Given the description of an element on the screen output the (x, y) to click on. 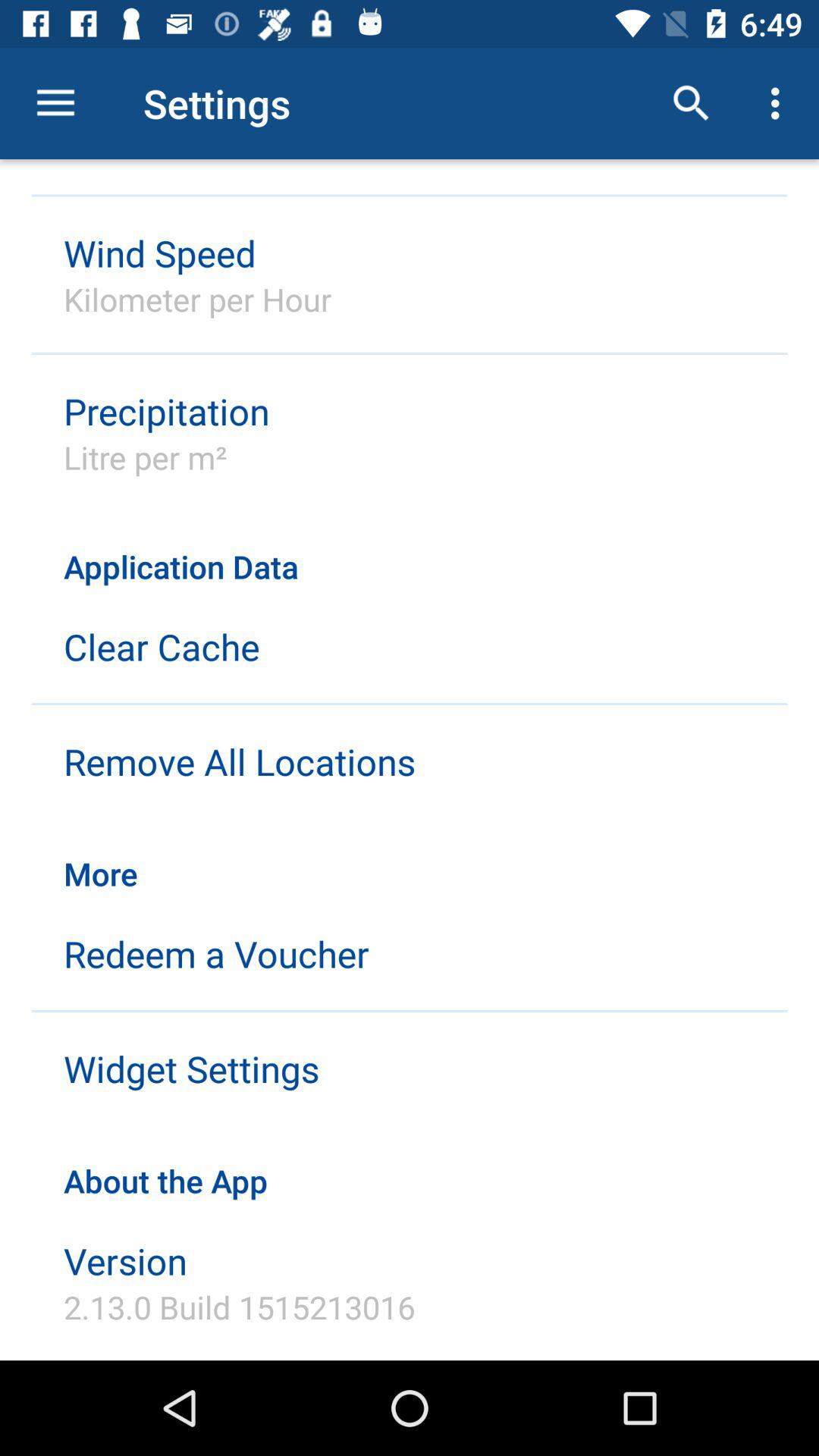
select the icon above about the app icon (191, 1068)
